Given the description of an element on the screen output the (x, y) to click on. 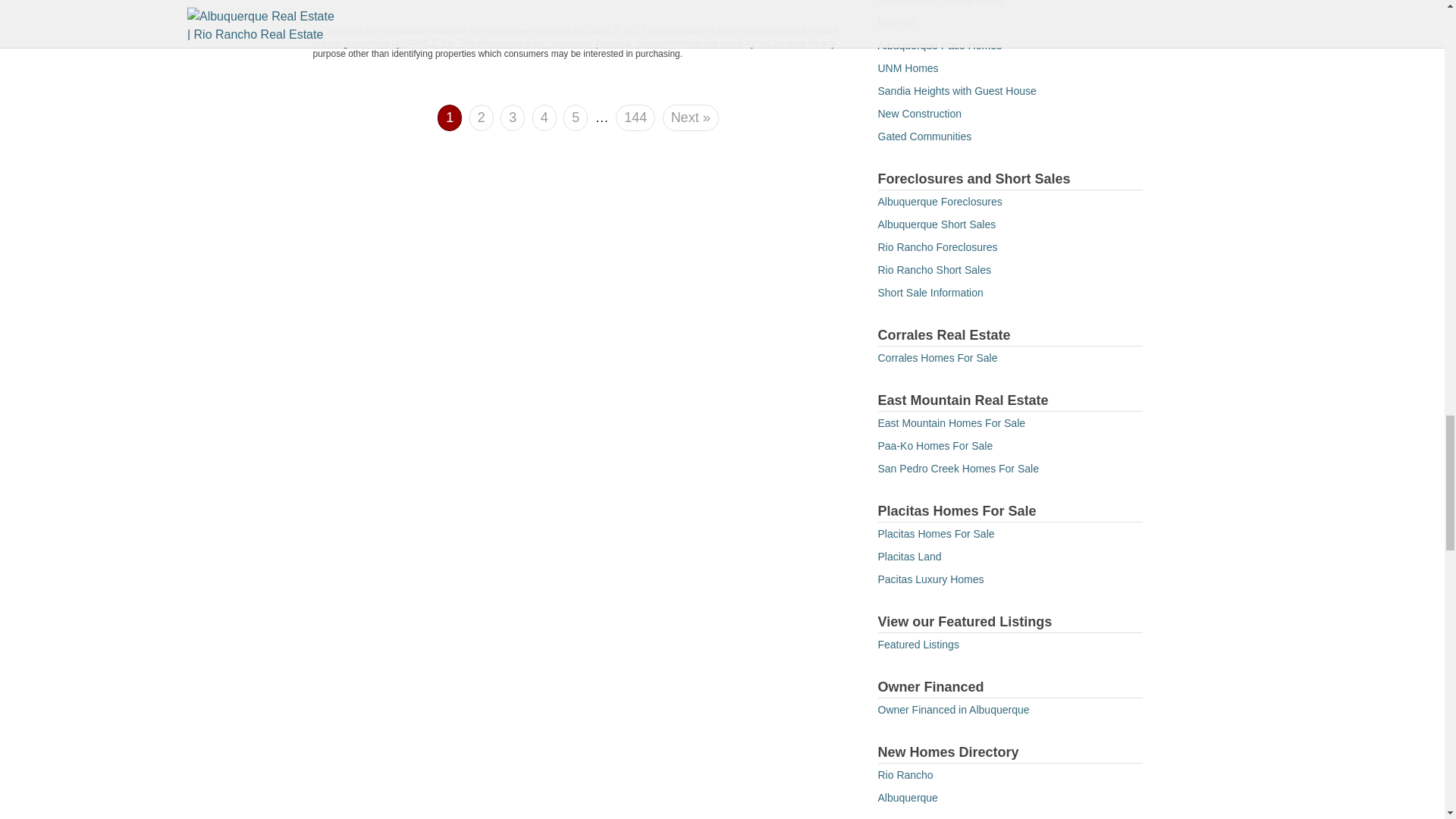
Page 5 (575, 117)
Current Page (449, 113)
Page 4 (544, 117)
Page 2 (480, 117)
Next Page (690, 117)
Page 3 (512, 117)
